Given the description of an element on the screen output the (x, y) to click on. 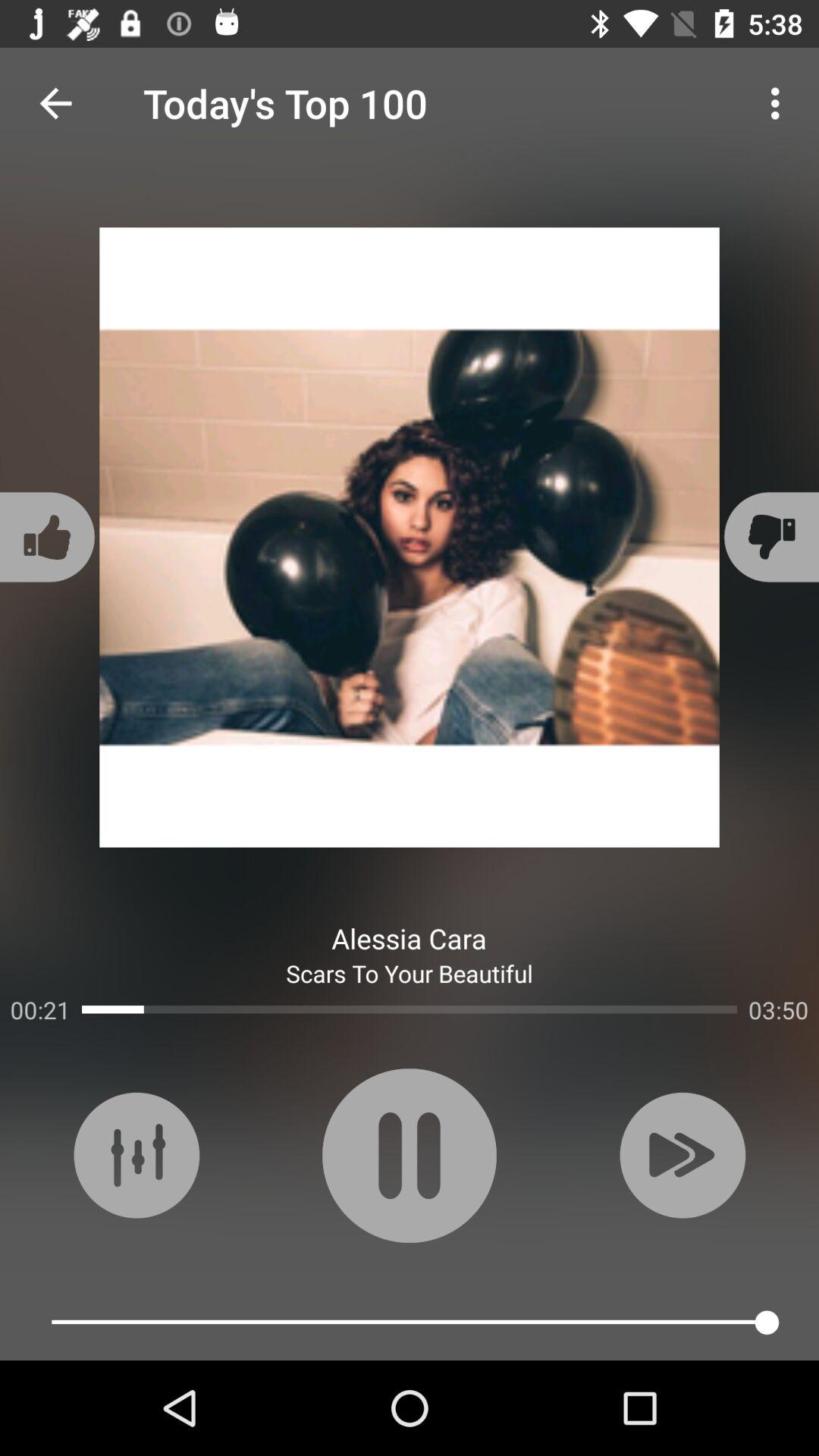
choose the icon below the 03:50 item (682, 1155)
